Given the description of an element on the screen output the (x, y) to click on. 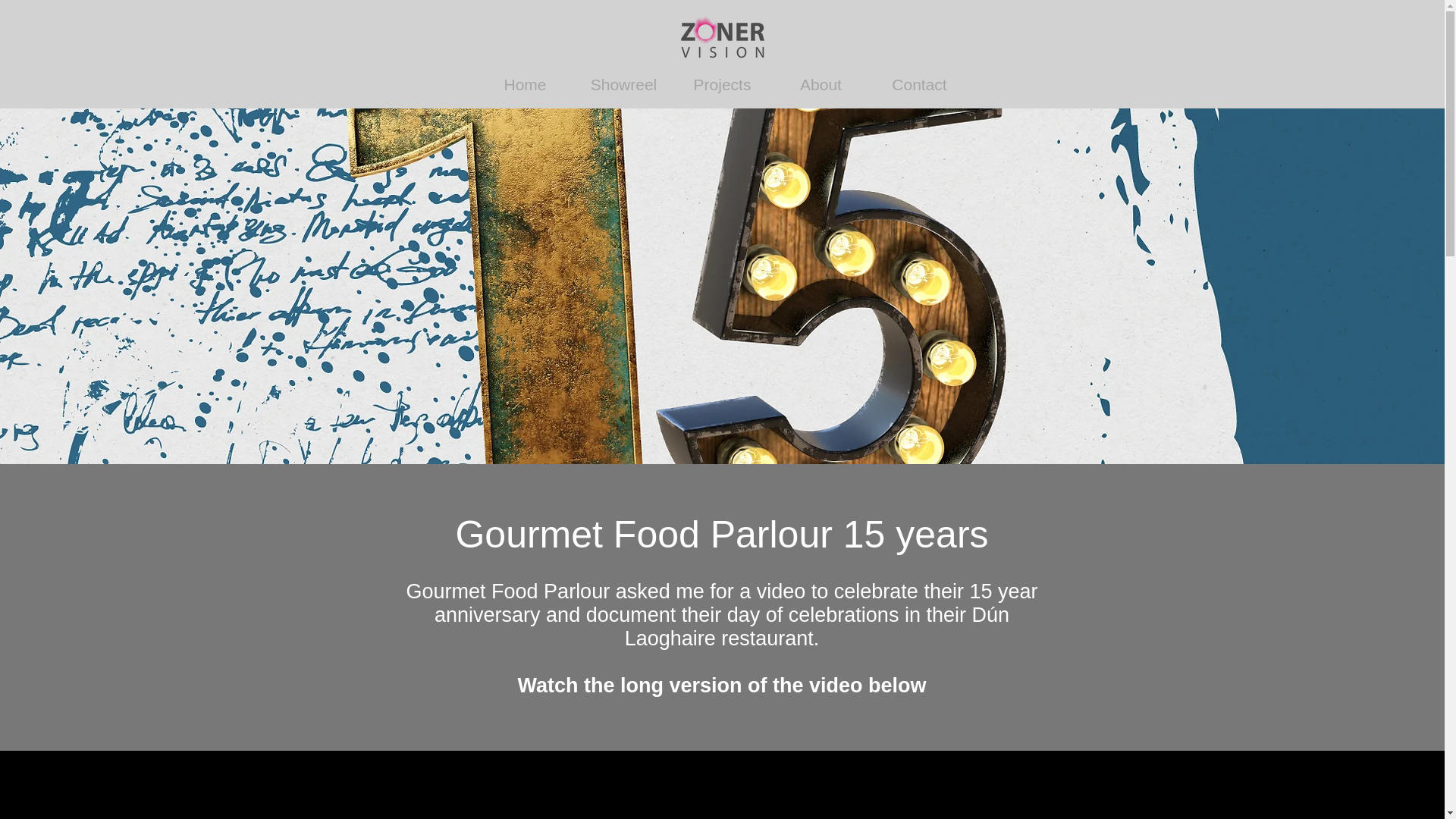
Projects (721, 84)
Showreel (623, 84)
Home (525, 84)
About (820, 84)
Contact (919, 84)
